Given the description of an element on the screen output the (x, y) to click on. 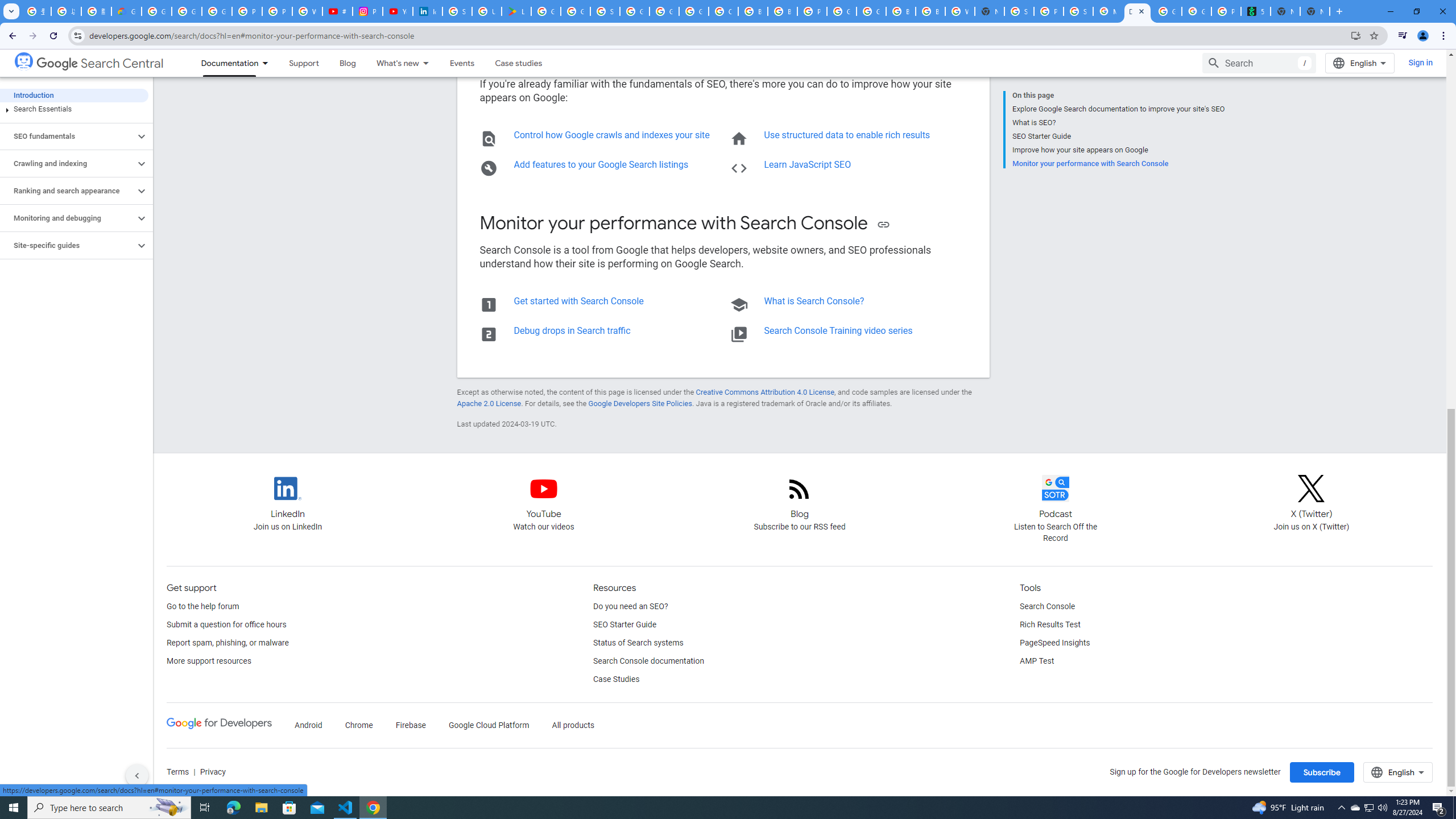
Add features to your Google Search listings (600, 164)
Search Off the Record podcast episodes (1055, 498)
Search Console Training video series (838, 330)
More support resources (208, 661)
Google Developers Site Policies (639, 403)
What is Search Console? (814, 300)
